Given the description of an element on the screen output the (x, y) to click on. 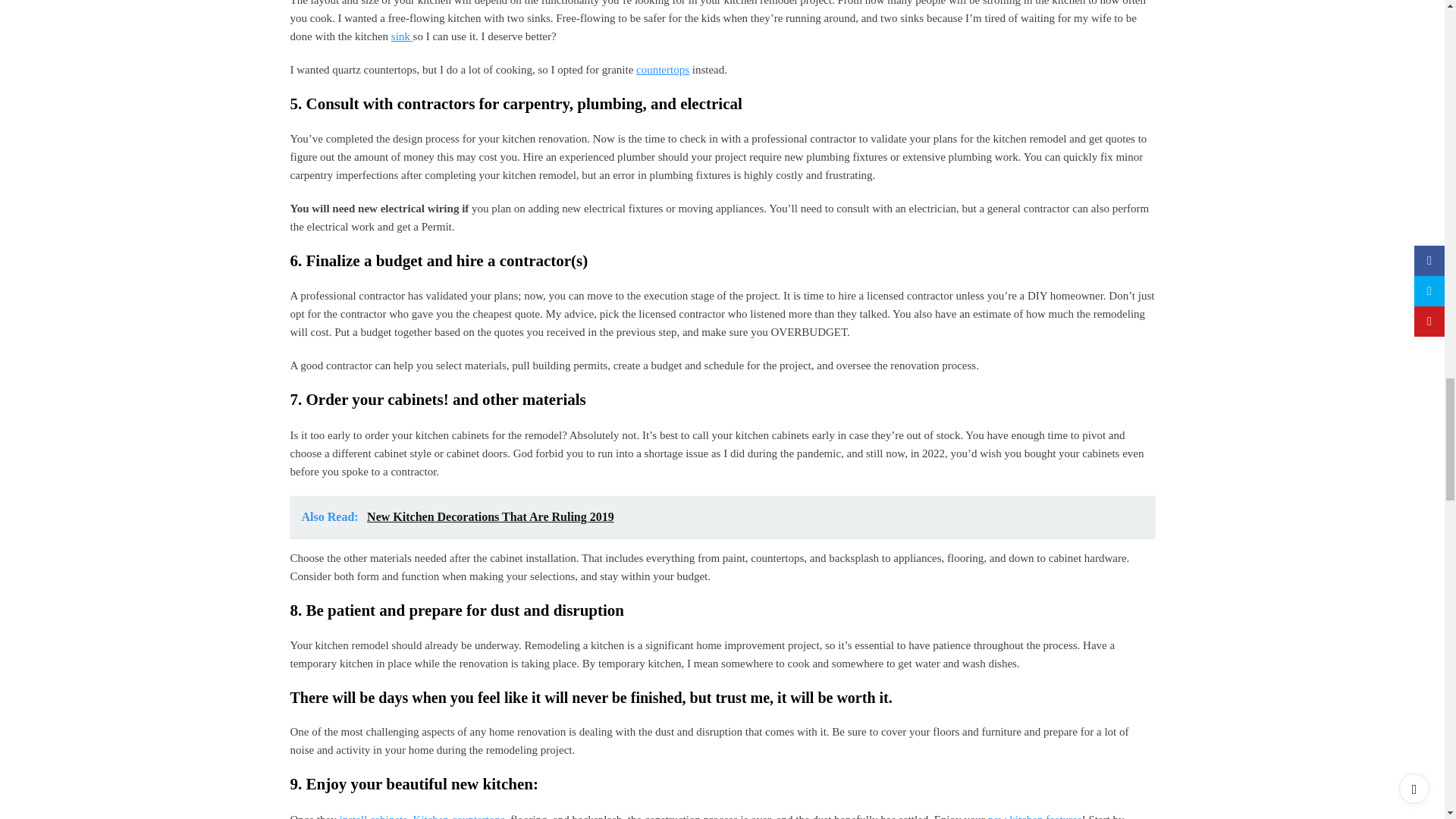
sink (402, 36)
Also Read:   New Kitchen Decorations That Are Ruling 2019 (721, 517)
Kitchen countertops (459, 816)
install cabinets (373, 816)
countertops (662, 69)
new kitchen features (1034, 816)
